Given the description of an element on the screen output the (x, y) to click on. 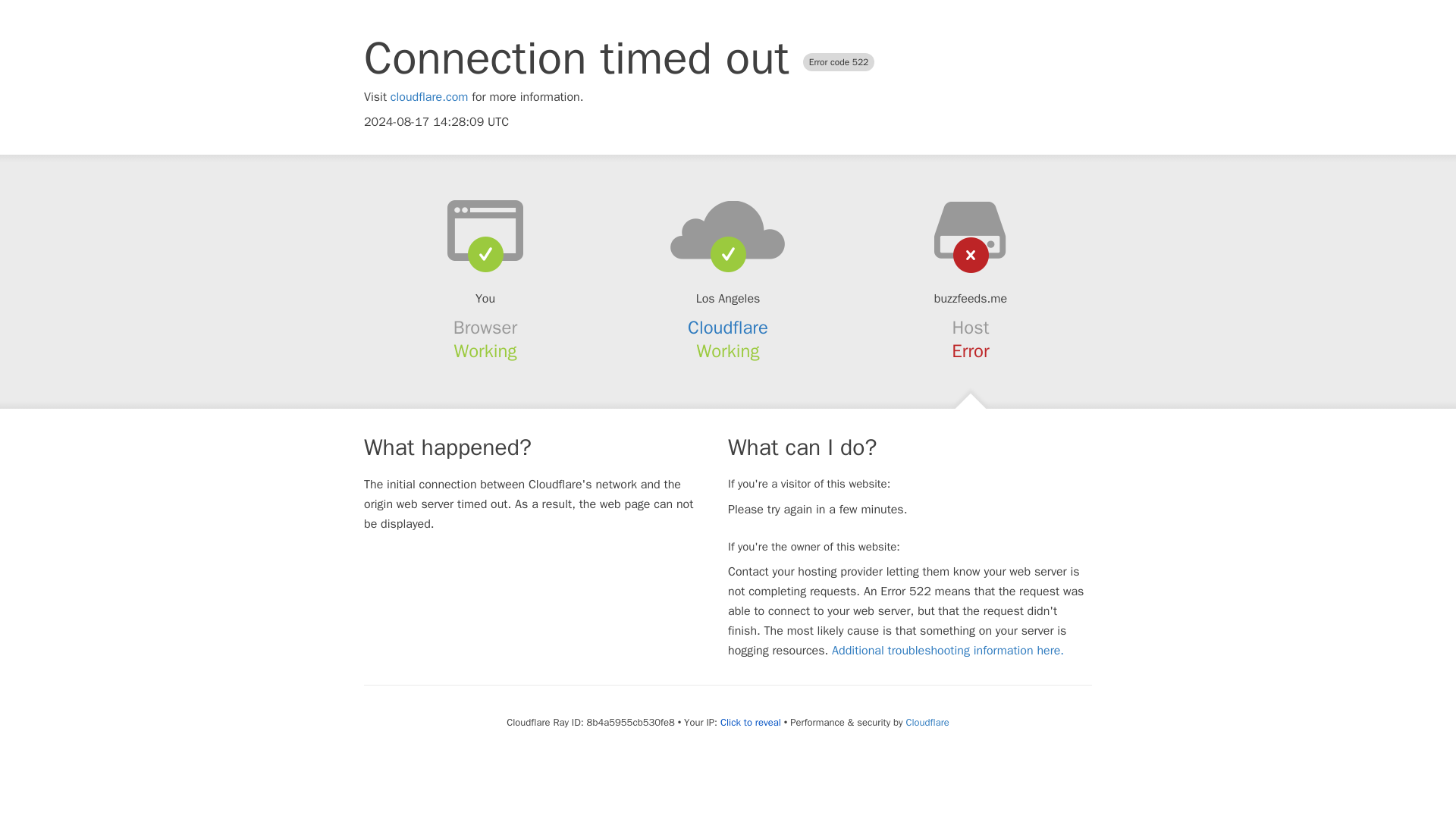
Additional troubleshooting information here. (947, 650)
Cloudflare (927, 721)
Click to reveal (750, 722)
Cloudflare (727, 327)
cloudflare.com (429, 96)
